Given the description of an element on the screen output the (x, y) to click on. 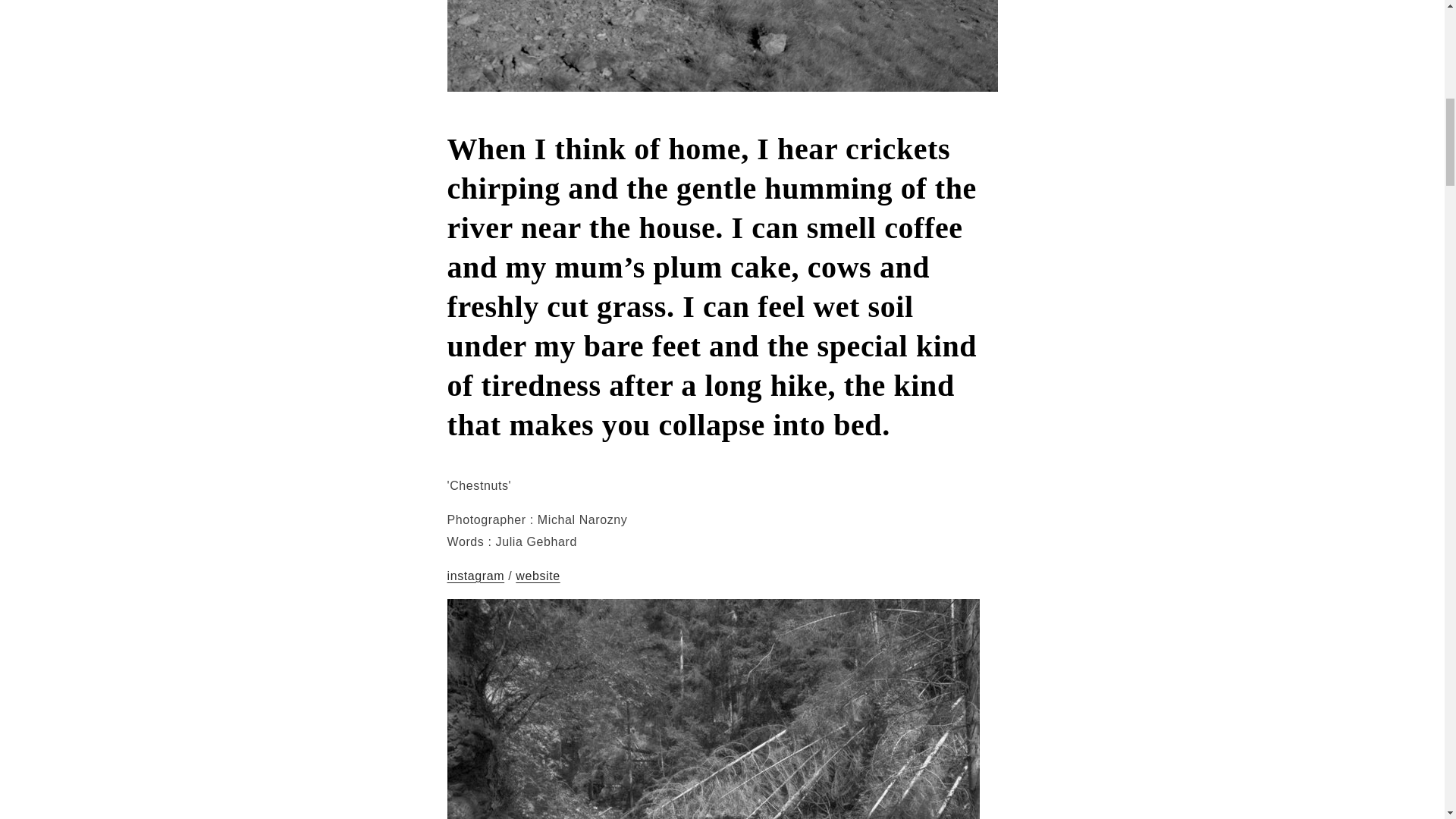
instagram (475, 575)
website (537, 575)
